Given the description of an element on the screen output the (x, y) to click on. 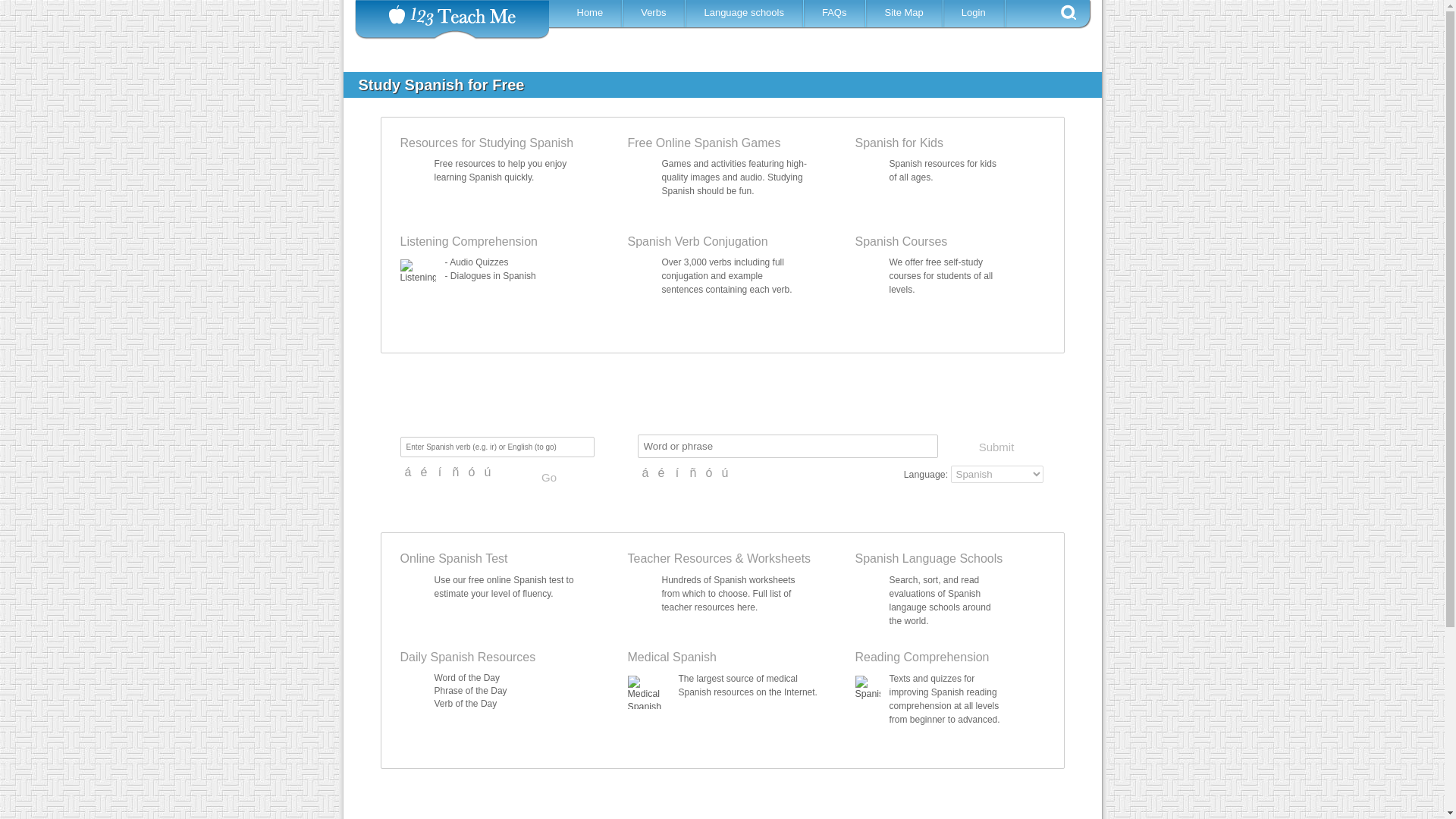
Online Spanish Games (703, 142)
Free Spanish Courses (901, 241)
Learn Spanish Online (655, 12)
Learn Spanish Online (591, 12)
Spanish Language Schools (746, 12)
Free Spanish Test (454, 558)
Go (548, 477)
Submit (995, 447)
Free Spanish Lessons (486, 142)
Spanish Teacher (679, 558)
